Given the description of an element on the screen output the (x, y) to click on. 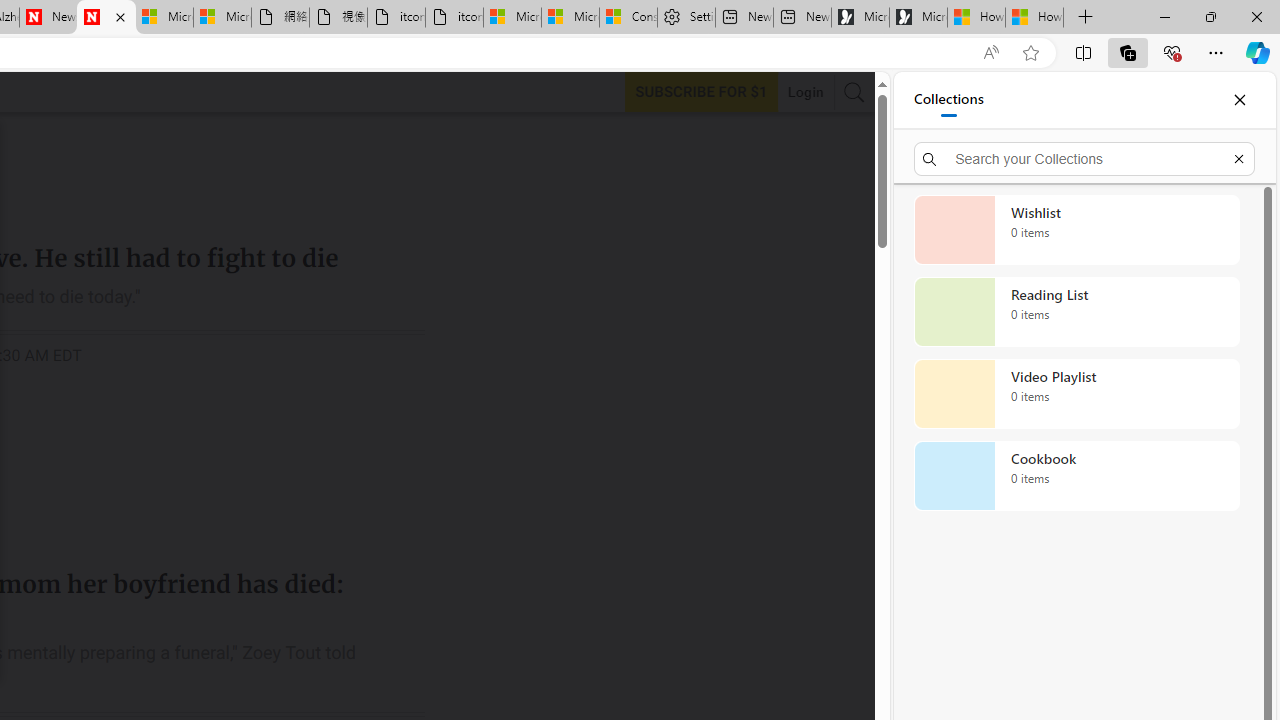
Login (805, 92)
Wishlist collection, 0 items (1076, 229)
Subscribe to our service (701, 91)
AutomationID: search-btn (854, 92)
